Given the description of an element on the screen output the (x, y) to click on. 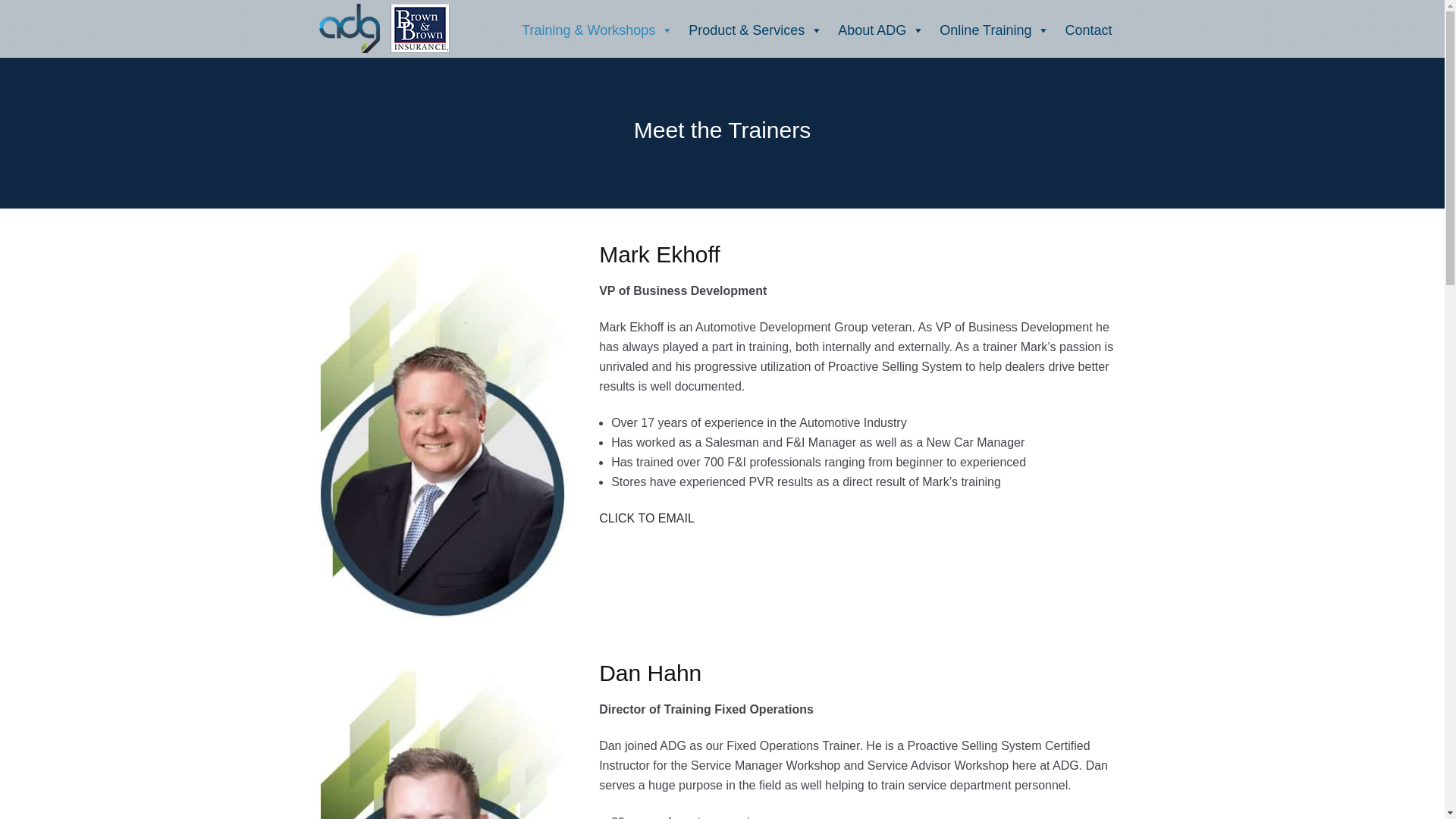
Dan Hahn (442, 739)
Online Training (994, 30)
About ADG (880, 30)
Contact (1088, 30)
